Given the description of an element on the screen output the (x, y) to click on. 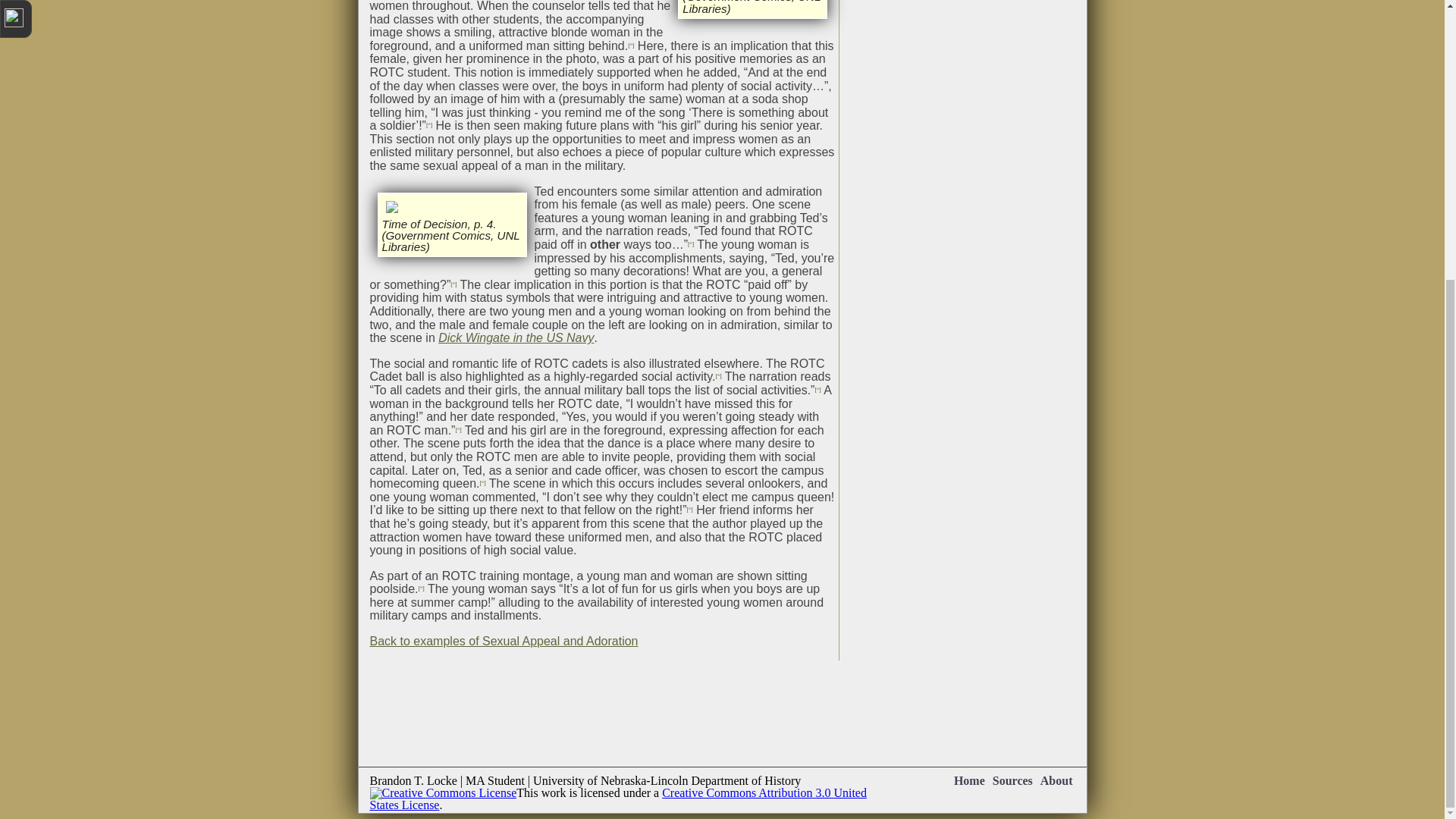
Dick Wingate in the US Navy (516, 337)
Back to examples of Sexual Appeal and Adoration (504, 640)
